Given the description of an element on the screen output the (x, y) to click on. 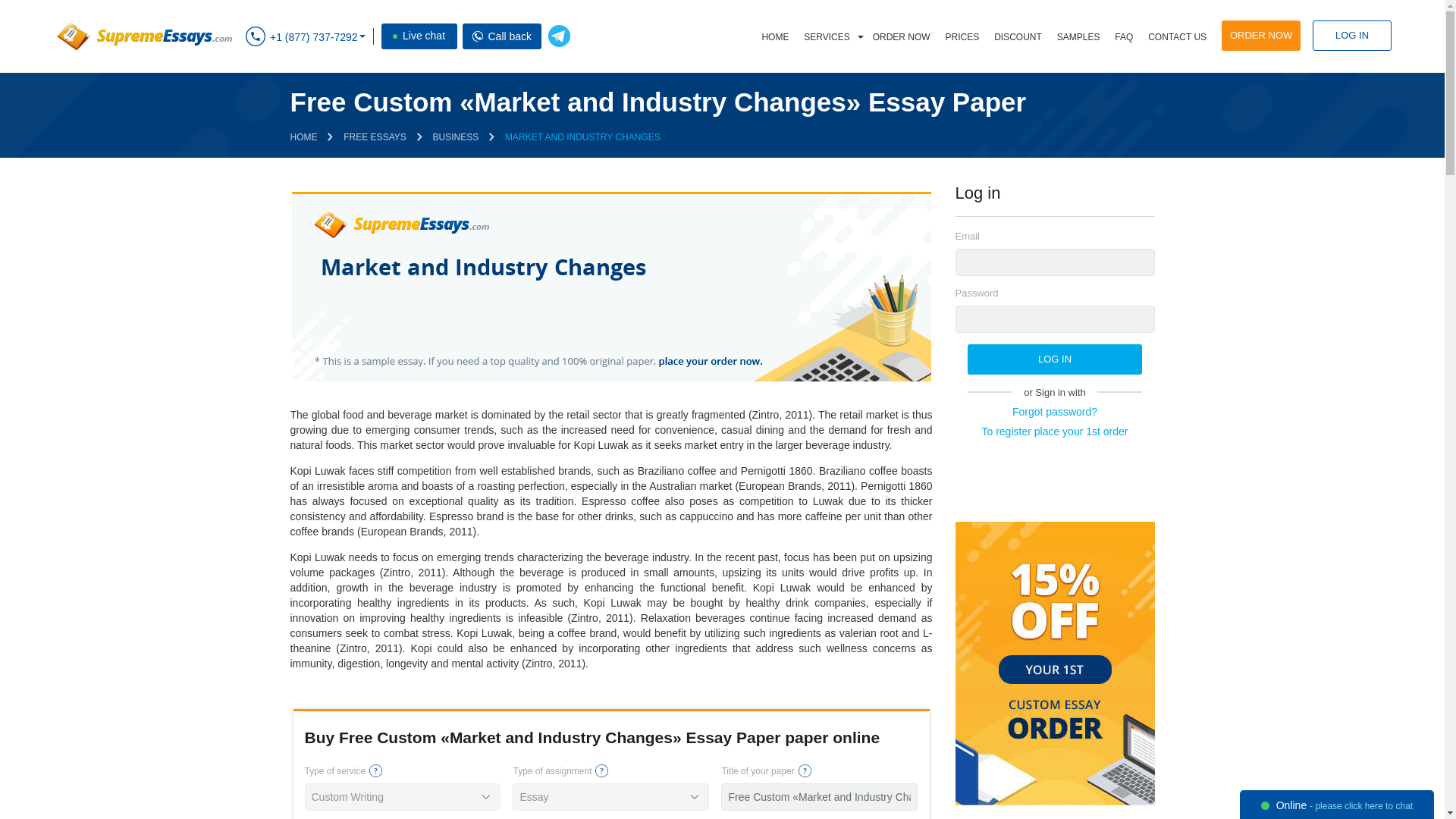
HOME (774, 36)
DISCOUNT (1018, 36)
SAMPLES (1078, 36)
BUSINESS (455, 136)
FAQ (1123, 36)
Market and Industry Changes (610, 286)
PRICES (962, 36)
FREE ESSAYS (374, 136)
HOME (303, 136)
Call back (477, 36)
Supremeessays.com (143, 36)
CONTACT US (1176, 36)
